Given the description of an element on the screen output the (x, y) to click on. 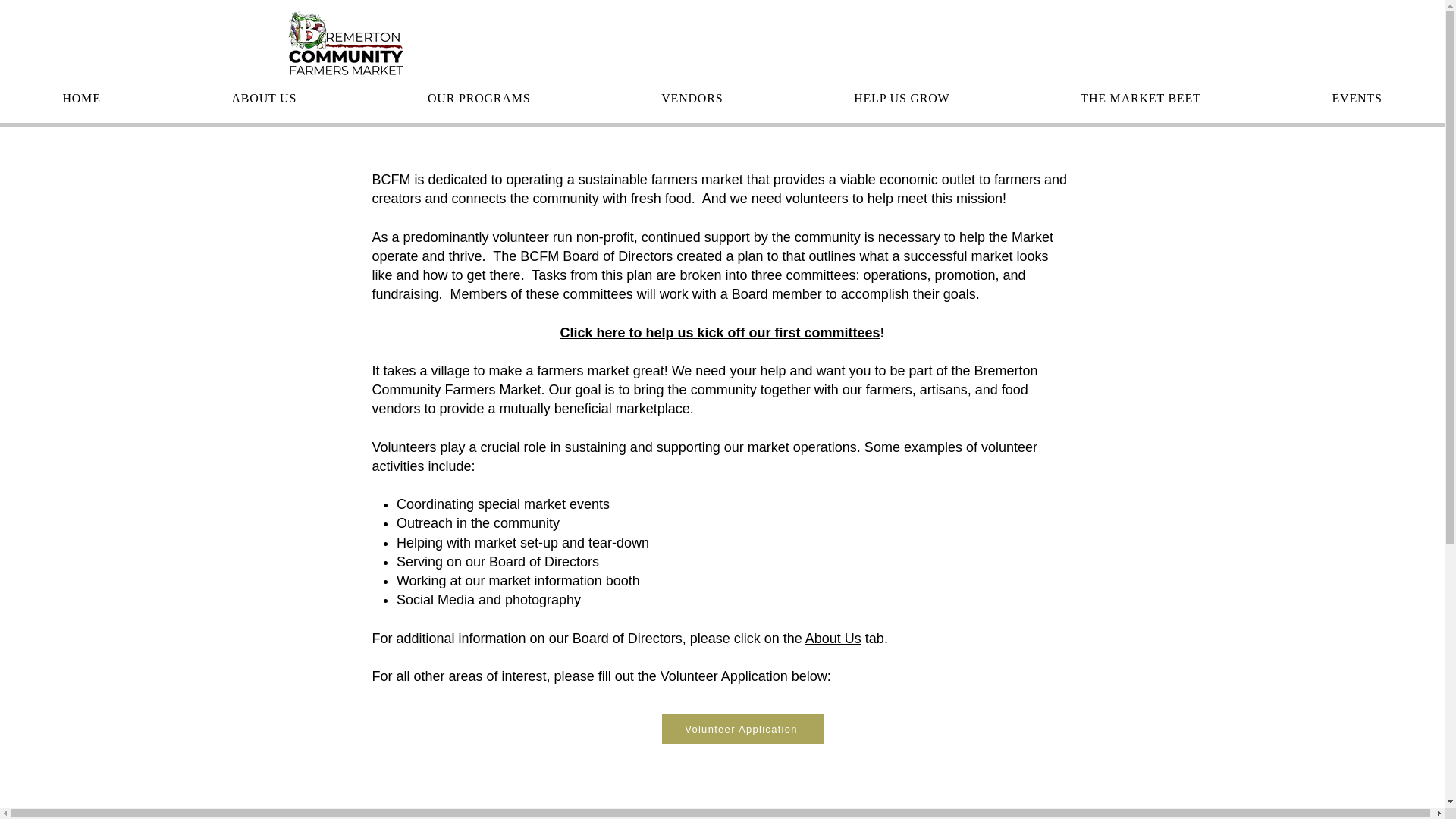
THE MARKET BEET (1140, 98)
Click here to help us kick off our first committees (719, 331)
OUR PROGRAMS (478, 98)
HELP US GROW (901, 98)
ABOUT US (263, 98)
HOME (81, 98)
About Us (833, 638)
Volunteer Application (742, 728)
EVENTS (1356, 98)
VENDORS (692, 98)
